Given the description of an element on the screen output the (x, y) to click on. 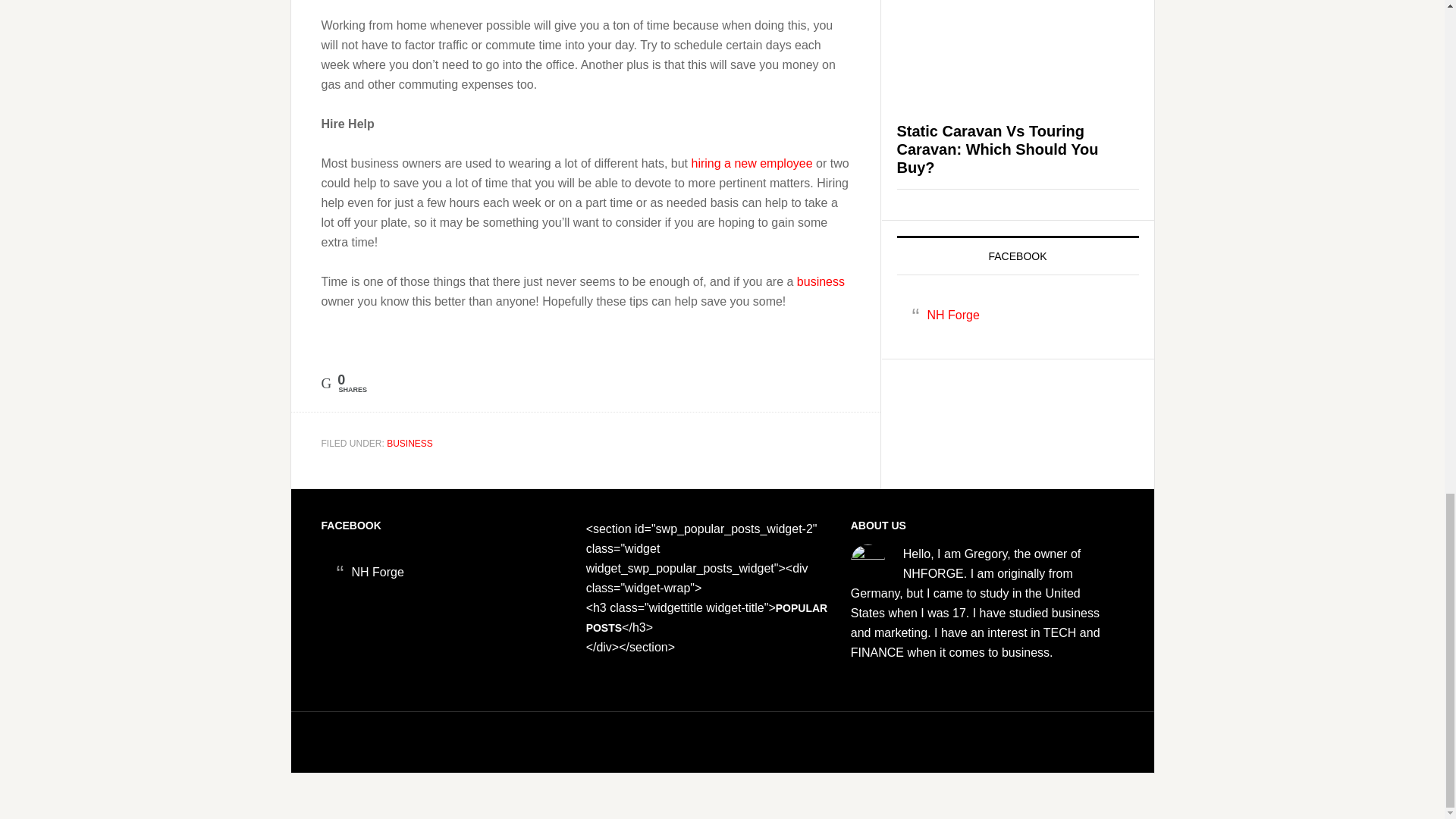
BUSINESS (409, 443)
Static Caravan Vs Touring Caravan: Which Should You Buy? (996, 149)
NH Forge (378, 571)
business (820, 281)
hiring a new employee (751, 163)
NH Forge (952, 314)
